Given the description of an element on the screen output the (x, y) to click on. 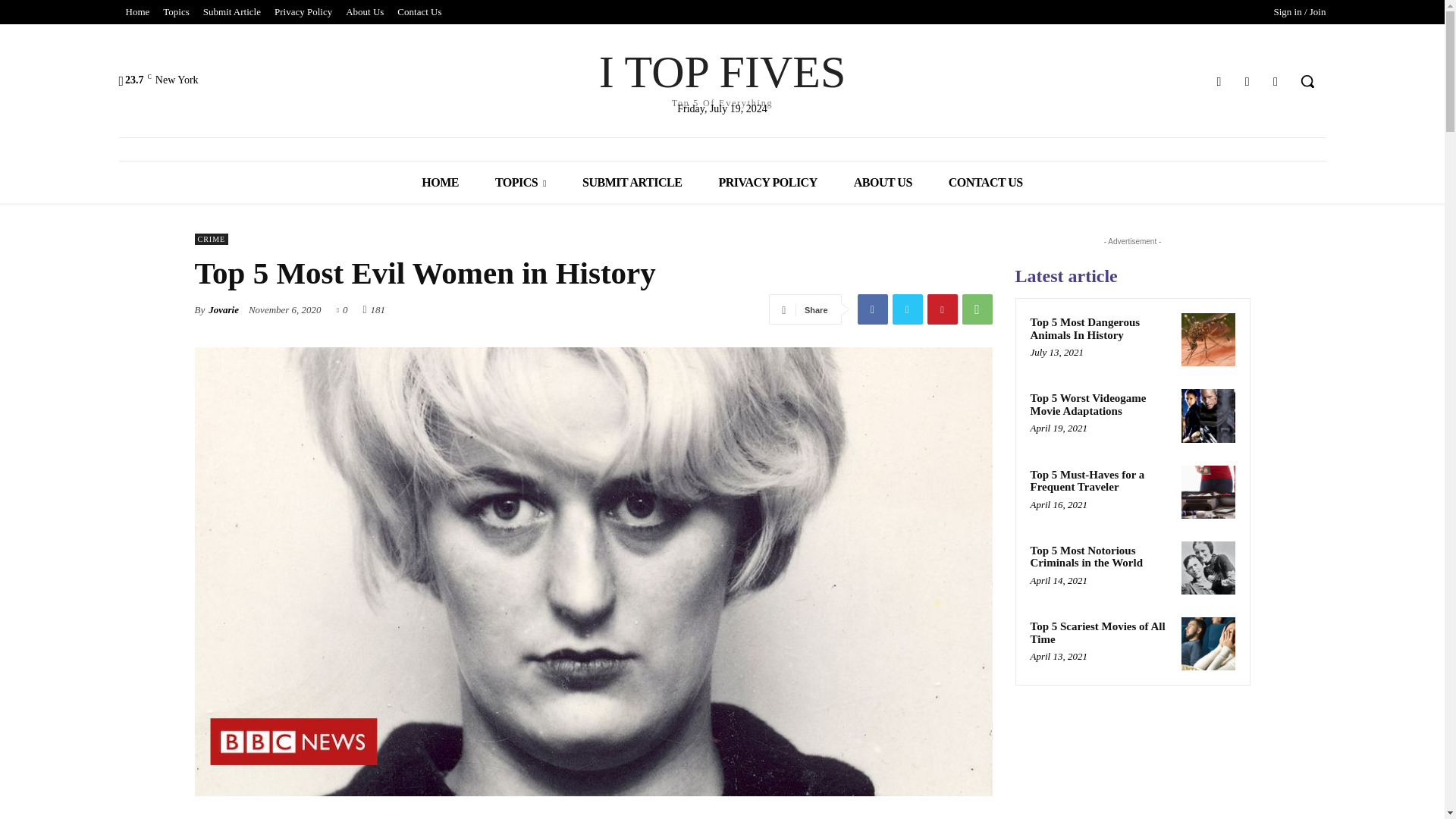
Facebook (871, 309)
Twitter (906, 309)
Home (136, 12)
Twitter (1246, 81)
Pinterest (941, 309)
WhatsApp (975, 309)
Facebook (1218, 81)
Topics (175, 12)
Youtube (1275, 81)
